Given the description of an element on the screen output the (x, y) to click on. 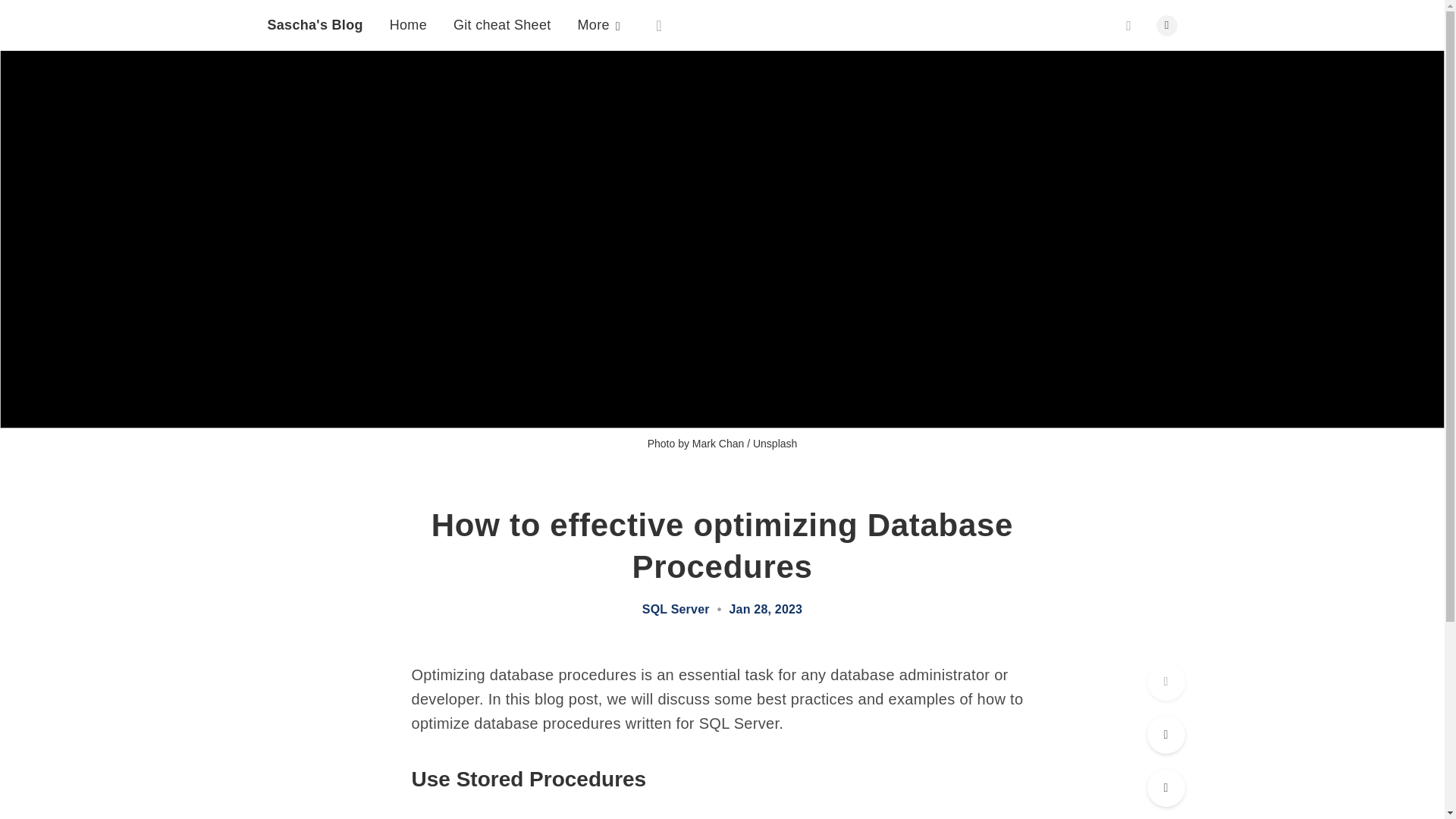
Unsplash (774, 443)
SQL Server (676, 609)
More (599, 19)
Sascha's Blog (314, 0)
Home (408, 5)
Git cheat Sheet (501, 15)
Mark Chan (718, 443)
